Given the description of an element on the screen output the (x, y) to click on. 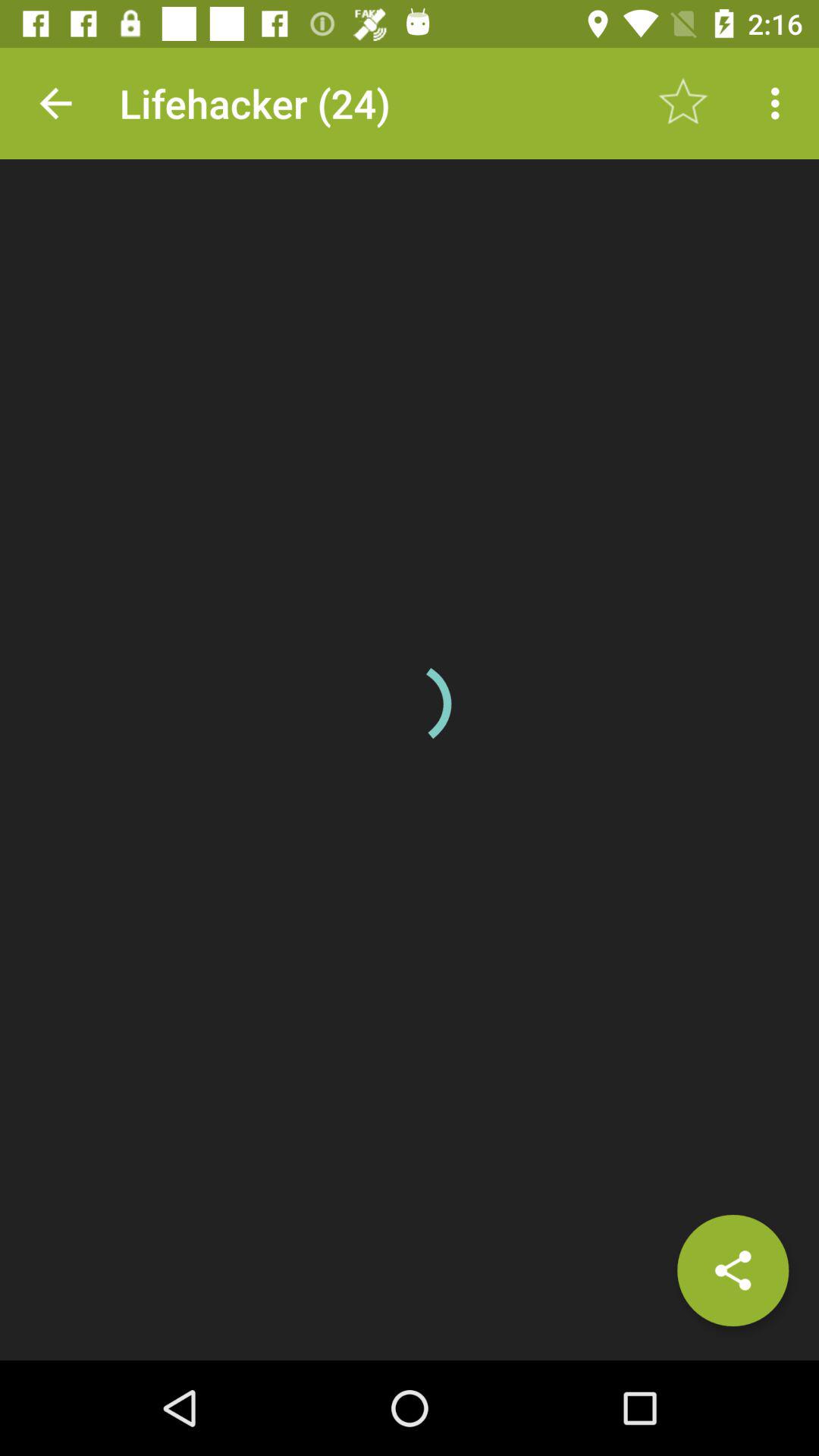
turn on the icon at the bottom right corner (733, 1270)
